Given the description of an element on the screen output the (x, y) to click on. 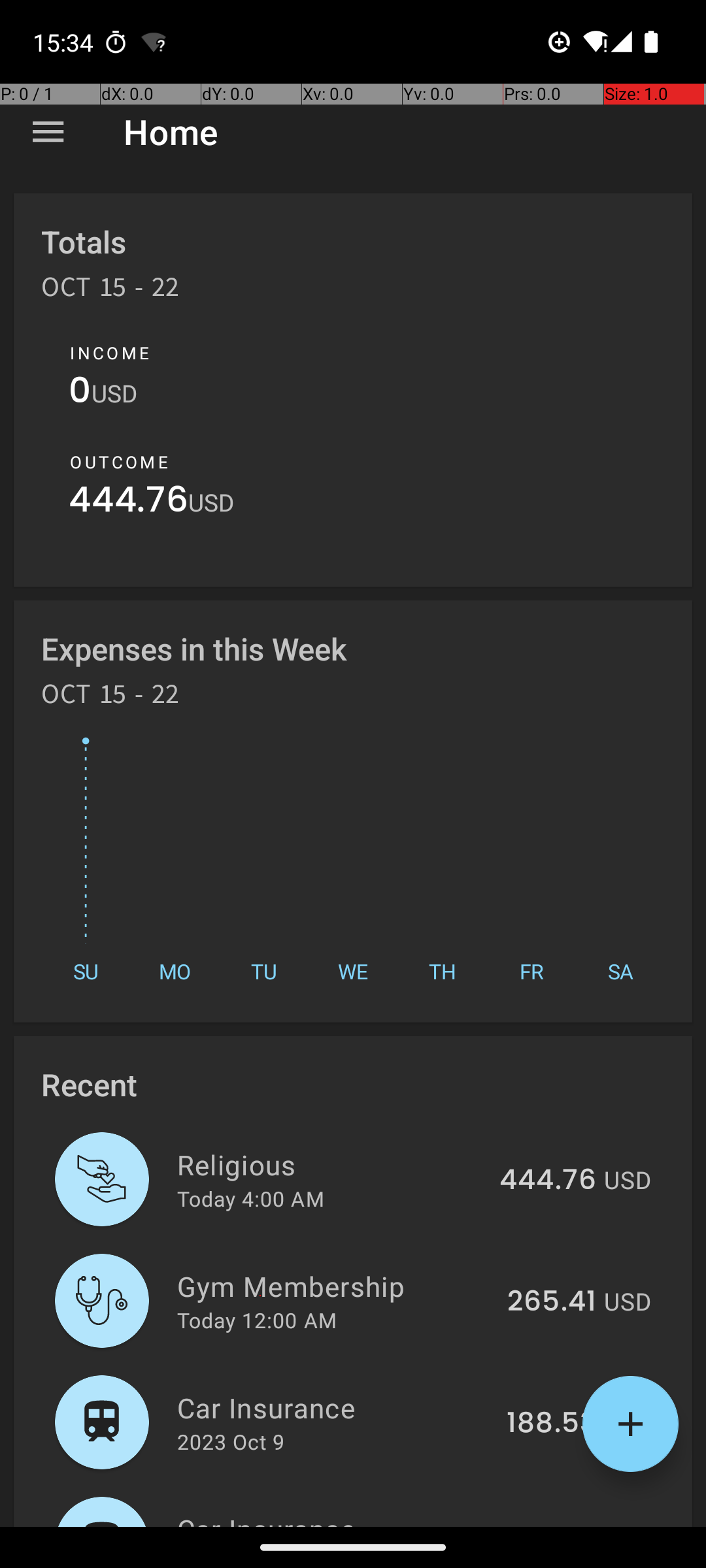
444.76 Element type: android.widget.TextView (128, 502)
Today 4:00 AM Element type: android.widget.TextView (250, 1198)
Gym Membership Element type: android.widget.TextView (334, 1285)
Today 12:00 AM Element type: android.widget.TextView (256, 1320)
265.41 Element type: android.widget.TextView (551, 1301)
188.53 Element type: android.widget.TextView (550, 1423)
